Given the description of an element on the screen output the (x, y) to click on. 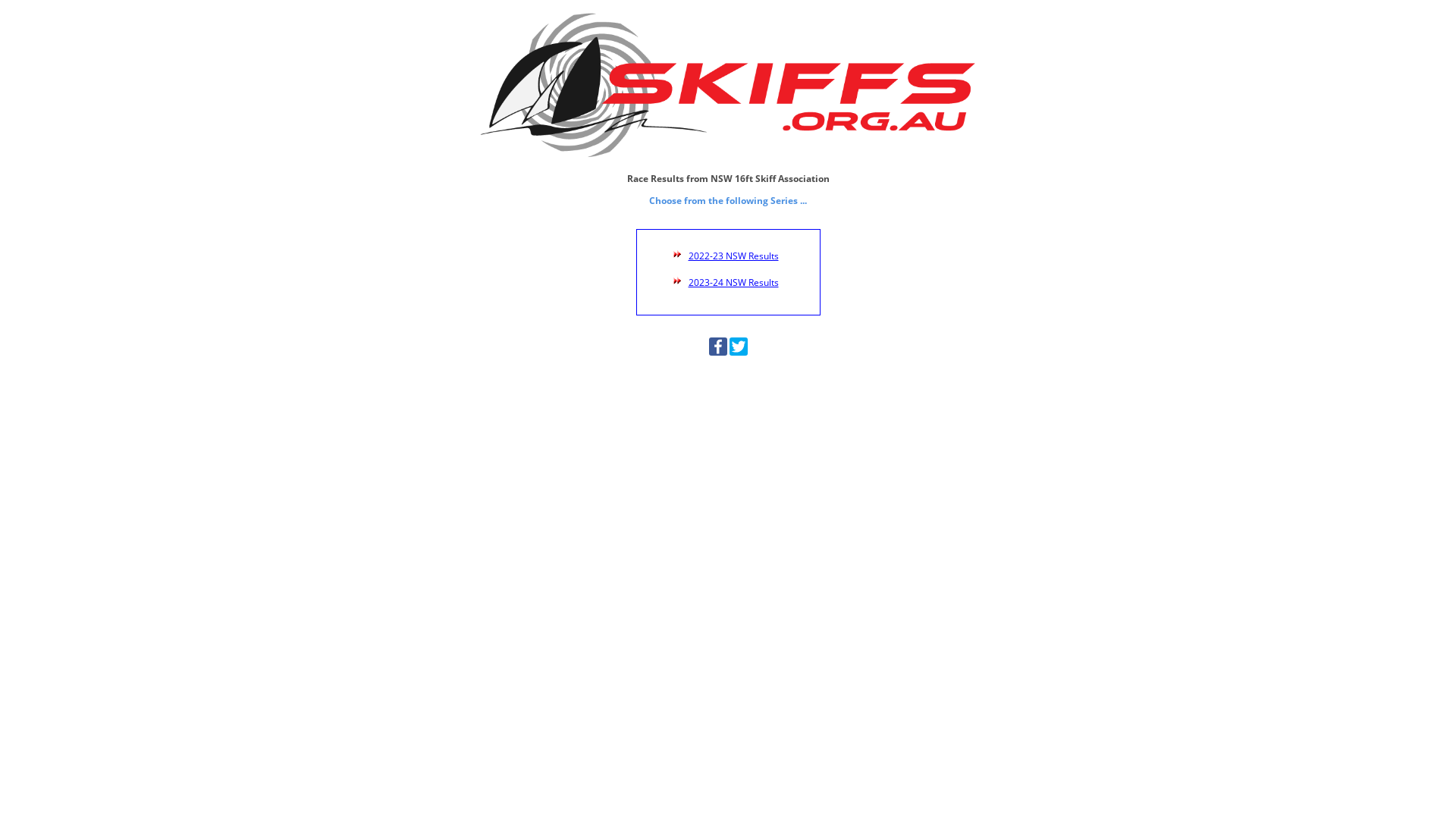
Tweet Element type: hover (738, 351)
2023-24 NSW Results Element type: text (733, 282)
Share on Facebook Element type: hover (717, 351)
2022-23 NSW Results Element type: text (733, 255)
